Given the description of an element on the screen output the (x, y) to click on. 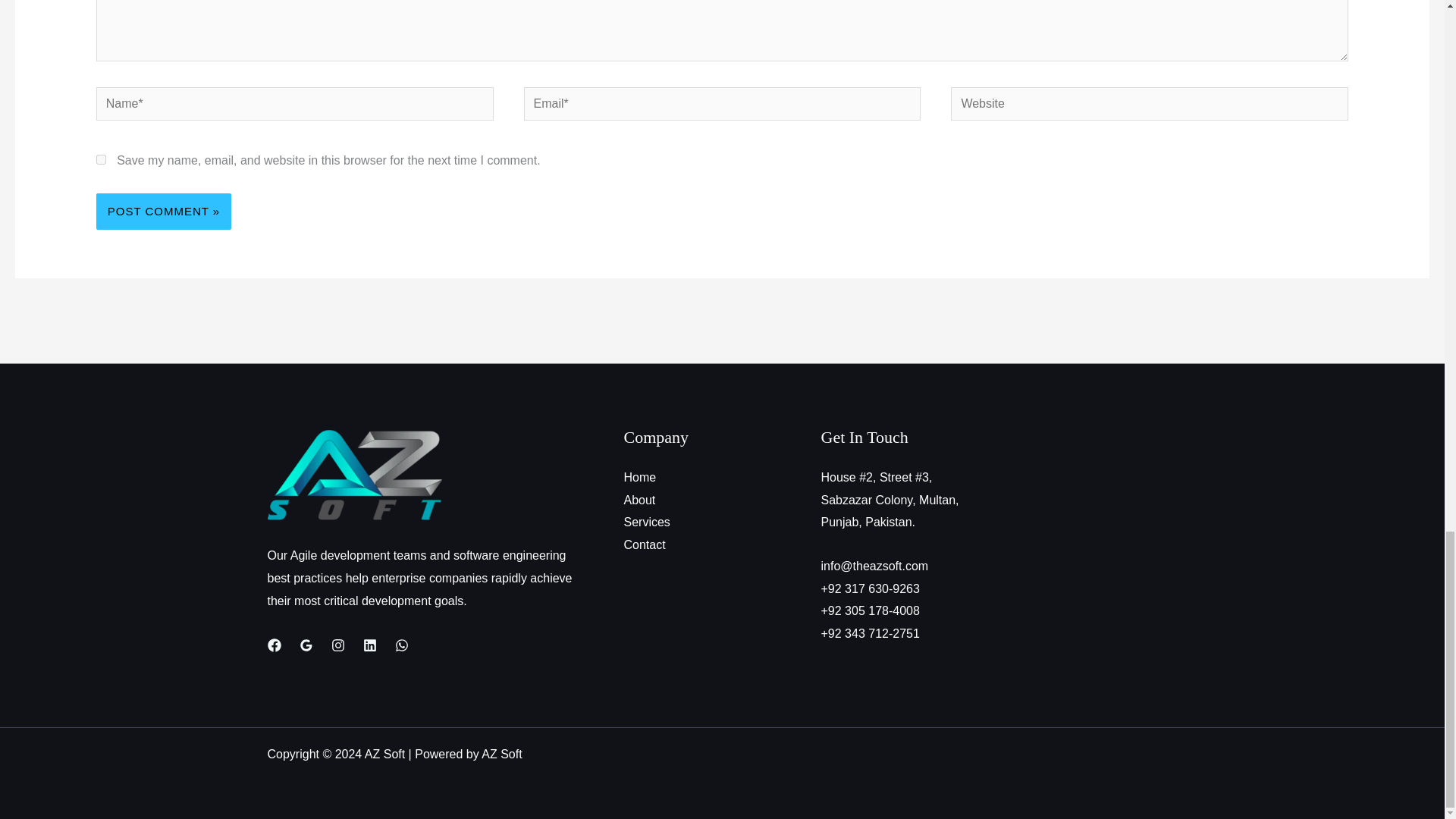
Contact (644, 544)
Services (646, 521)
yes (101, 159)
About (639, 499)
Home (639, 477)
